Given the description of an element on the screen output the (x, y) to click on. 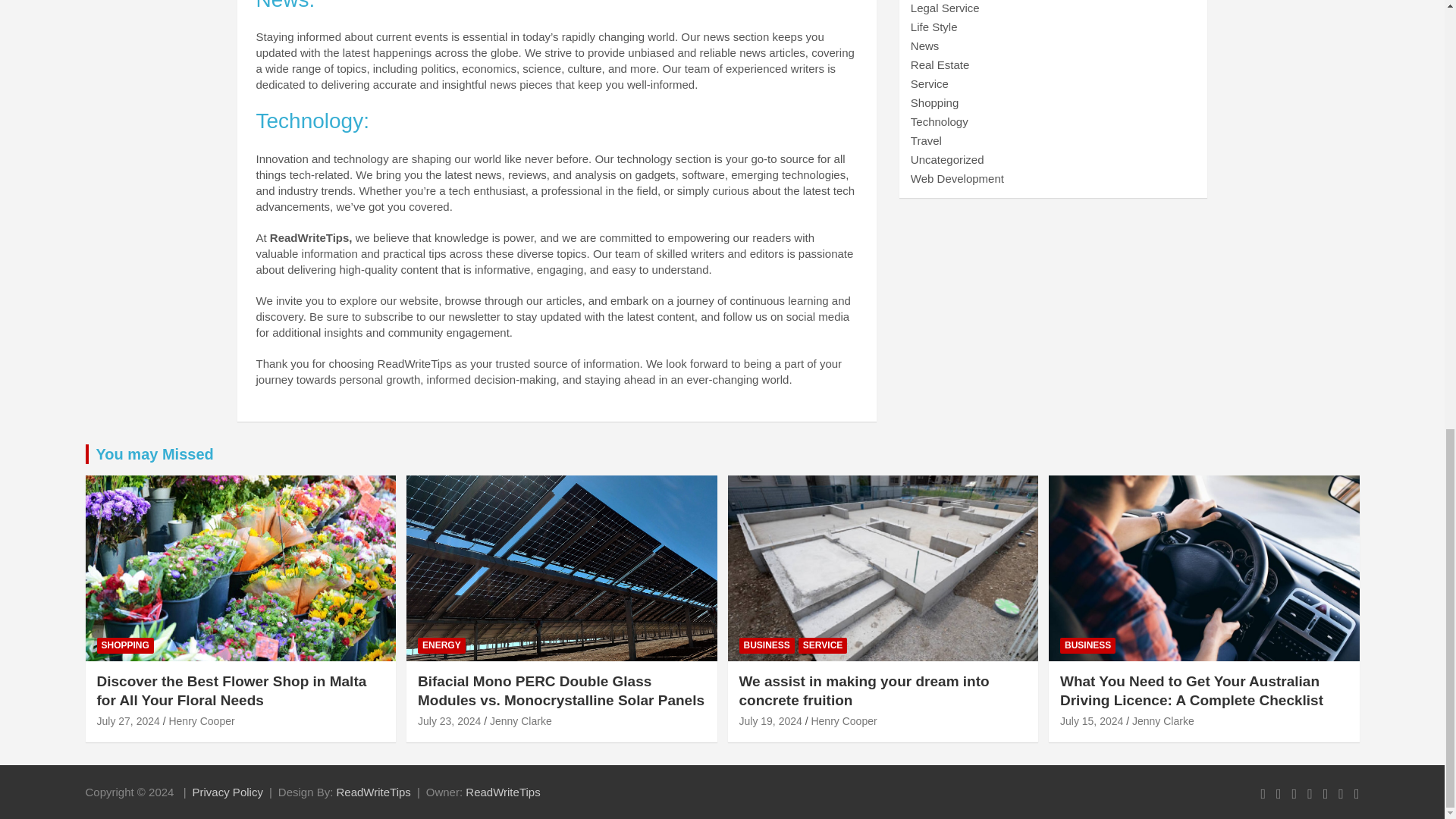
ReadWriteTips (373, 791)
We assist in making your dream into concrete fruition (770, 720)
ReadWriteTips (502, 791)
